Given the description of an element on the screen output the (x, y) to click on. 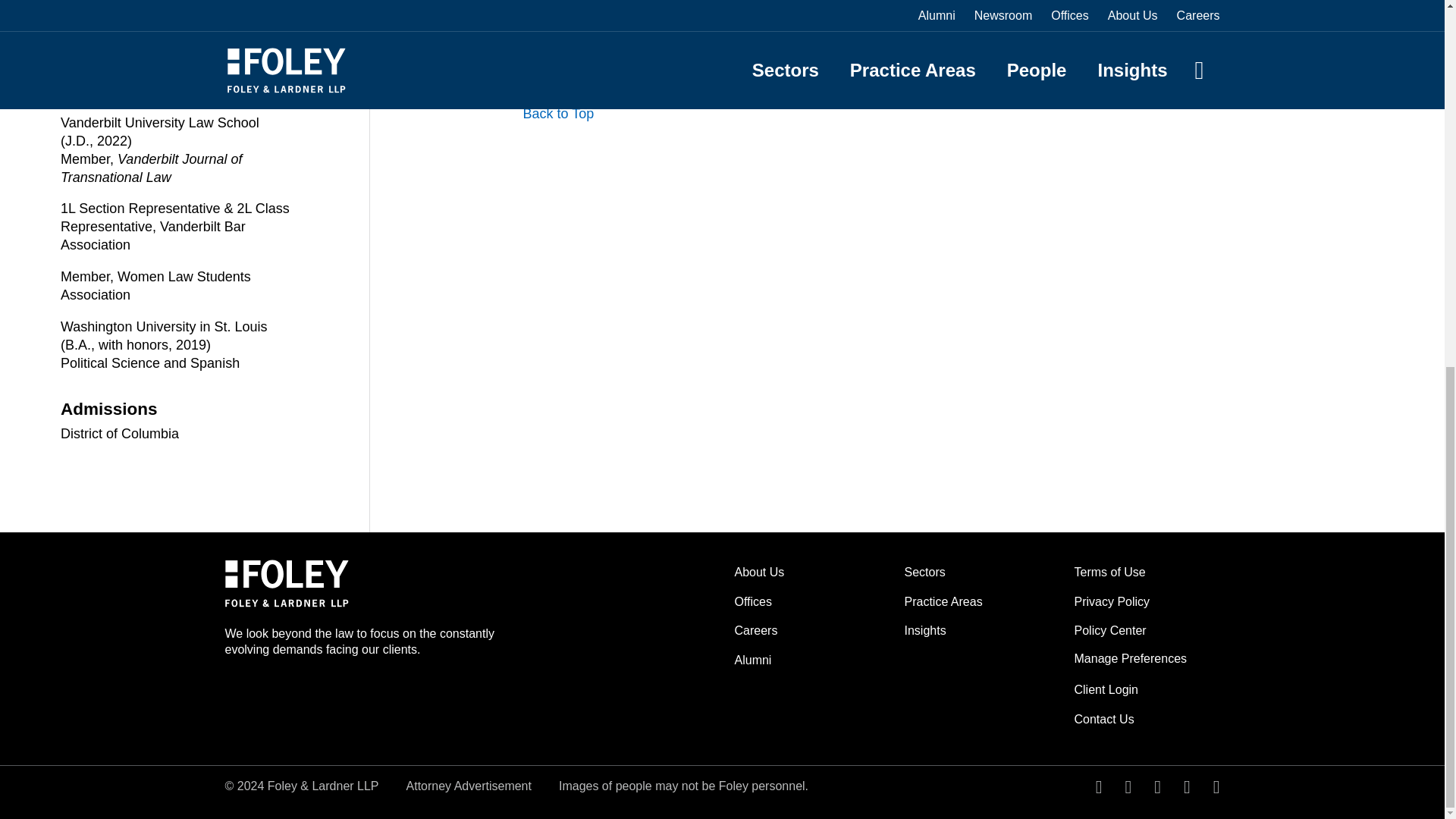
False Claims Act (176, 31)
Litigation (176, 53)
Back to Top (558, 114)
